Given the description of an element on the screen output the (x, y) to click on. 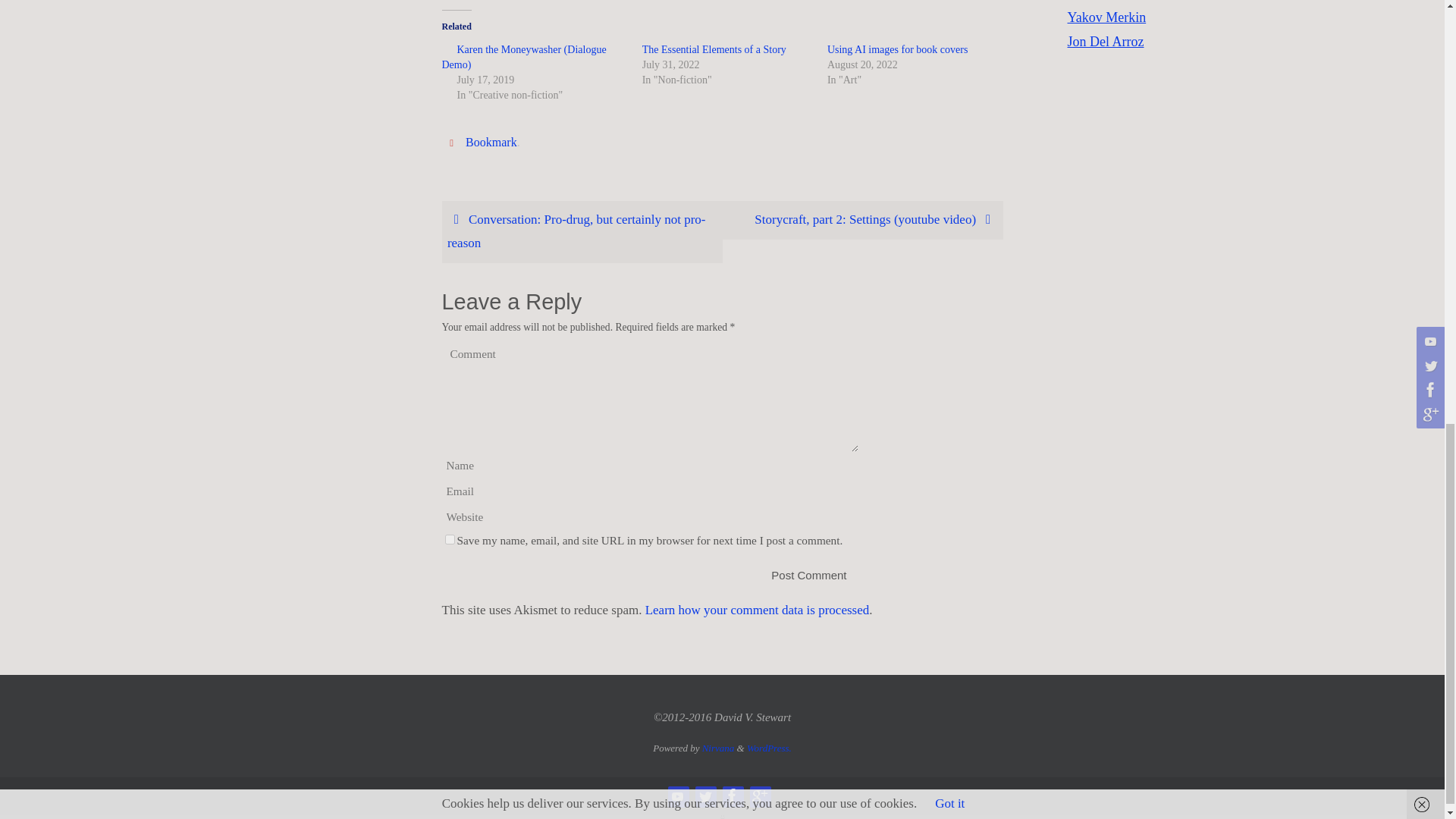
The Essential Elements of a Story (714, 49)
Bookmark (490, 142)
Conversation: Pro-drug, but certainly not pro-reason (581, 231)
Using AI images for book covers (897, 49)
yes (449, 539)
Post Comment (808, 574)
